Given the description of an element on the screen output the (x, y) to click on. 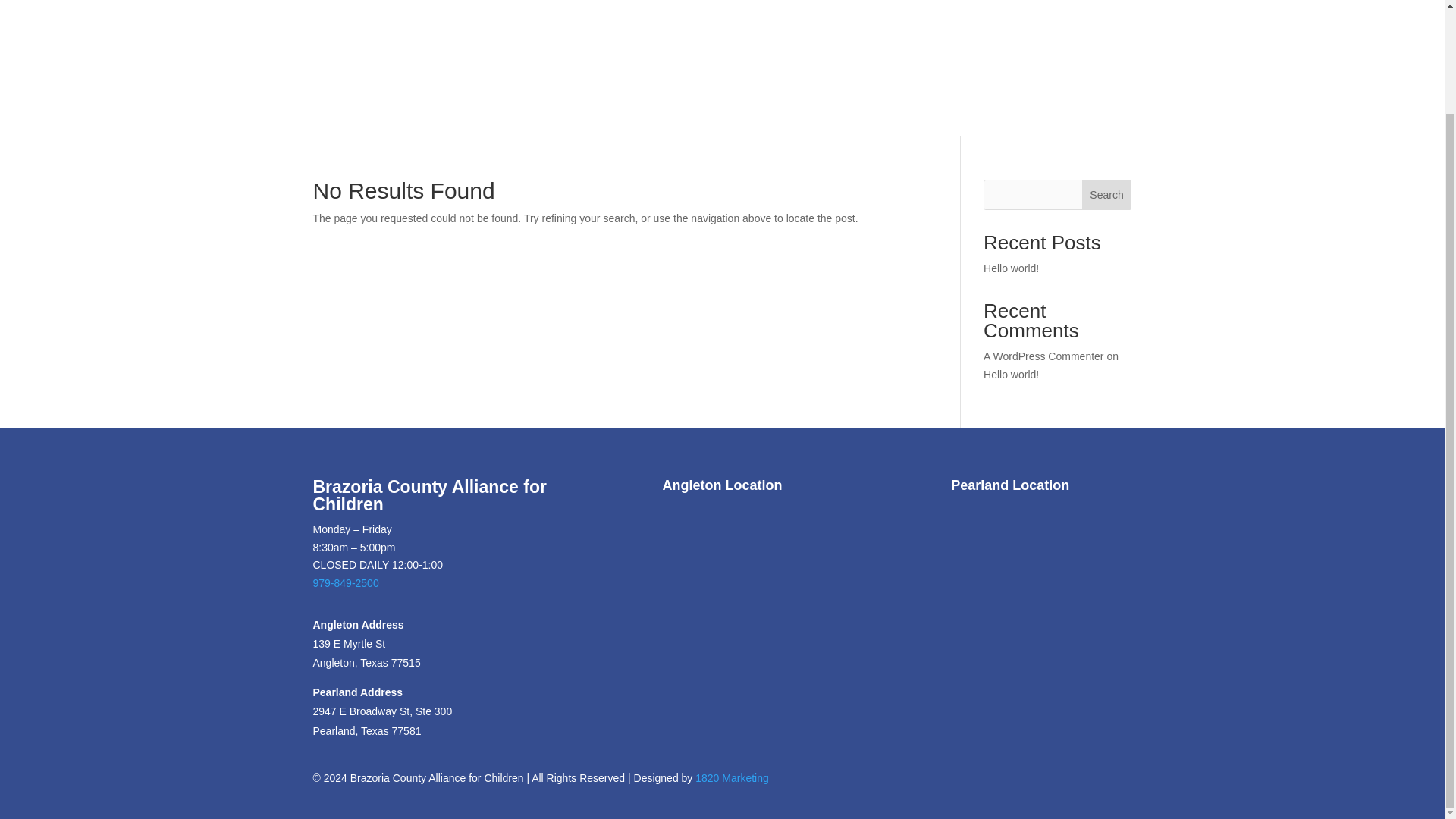
979-849-2500 (345, 582)
Hello world! (1011, 268)
A WordPress Commenter (1043, 356)
Hello world! (1011, 374)
1820 Marketing (731, 777)
Search (1106, 194)
Call Now (865, 30)
